Given the description of an element on the screen output the (x, y) to click on. 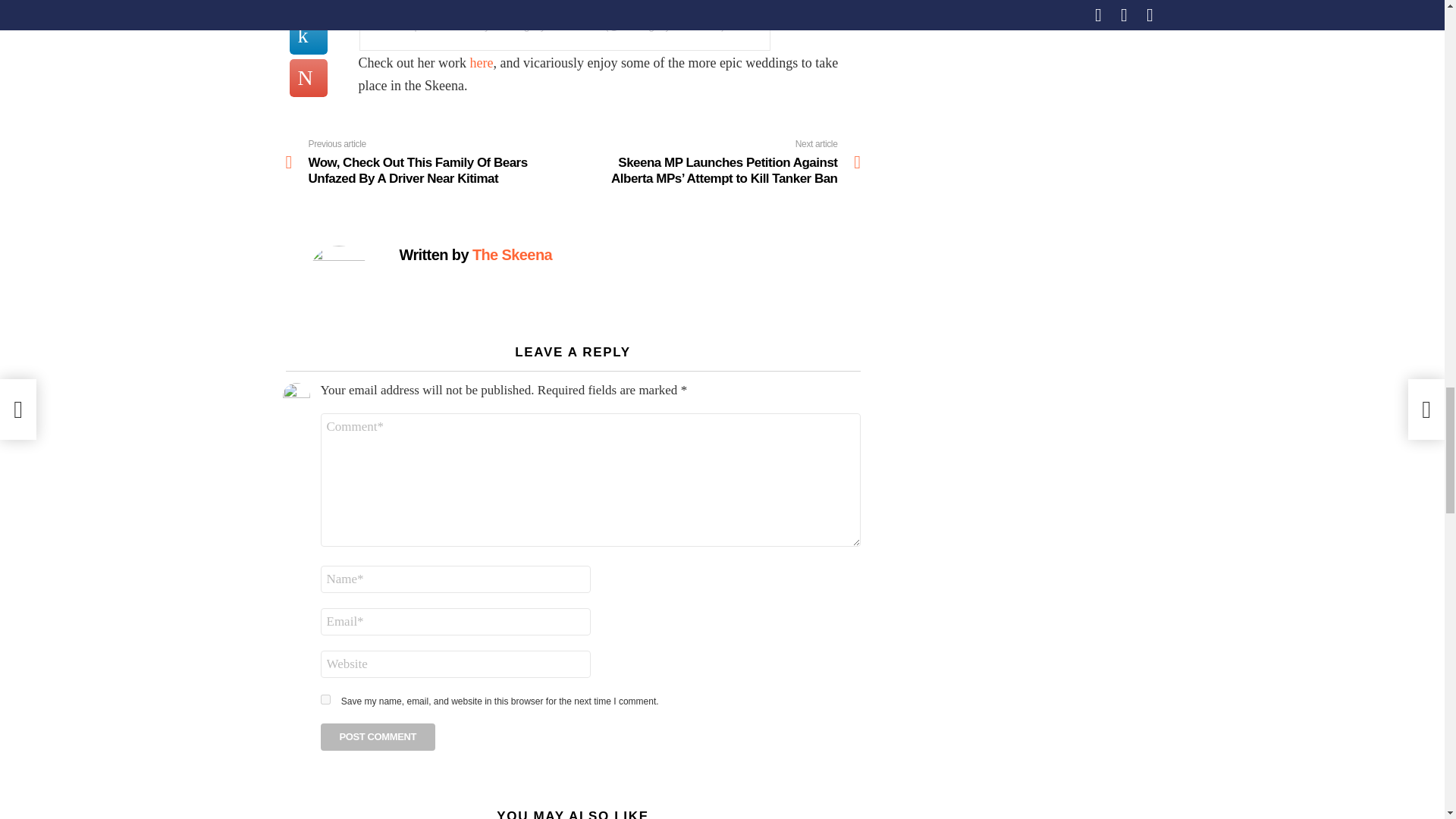
here (480, 62)
Post Comment (377, 737)
yes (325, 699)
